Given the description of an element on the screen output the (x, y) to click on. 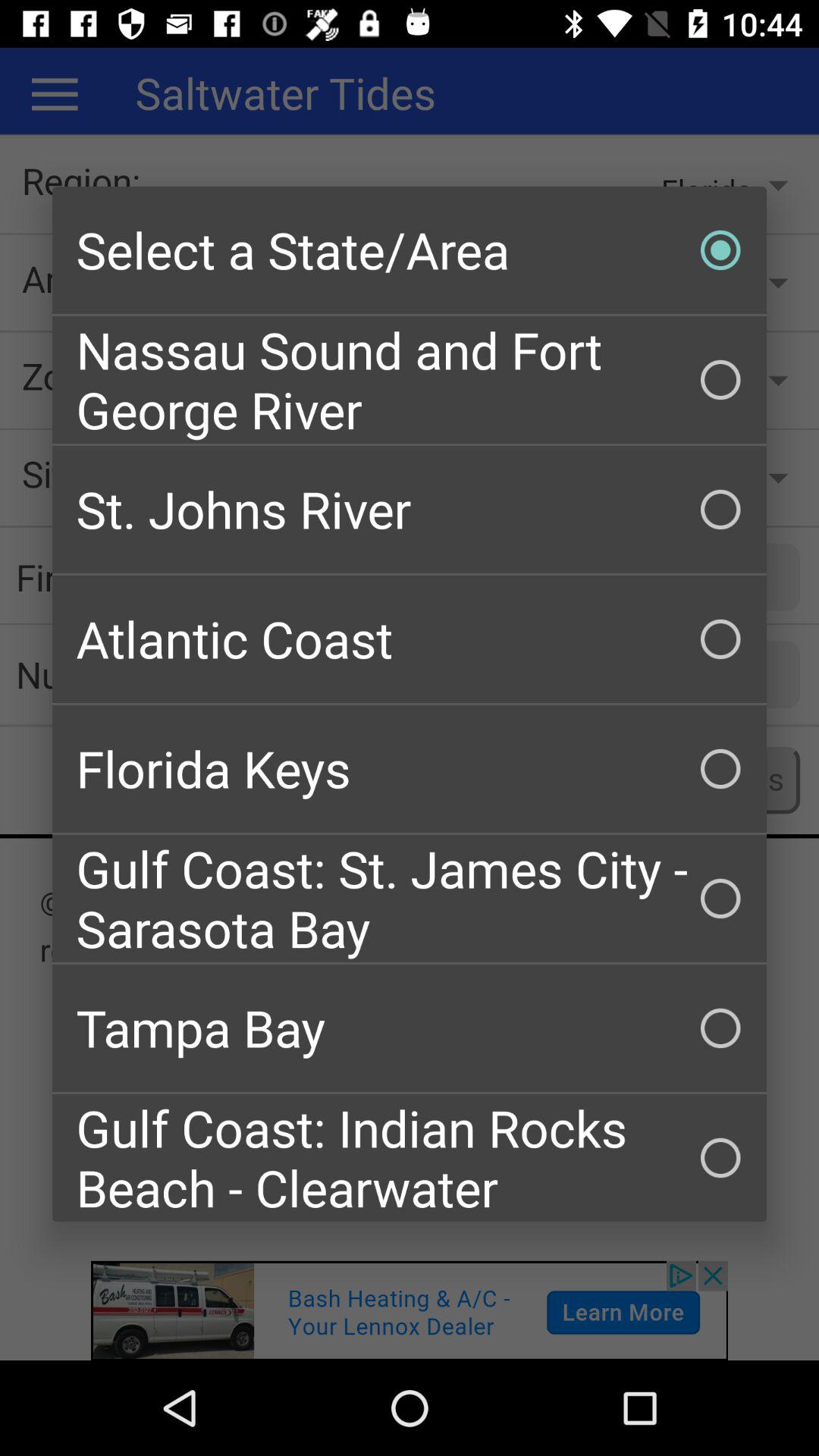
select checkbox above the nassau sound and (409, 249)
